Given the description of an element on the screen output the (x, y) to click on. 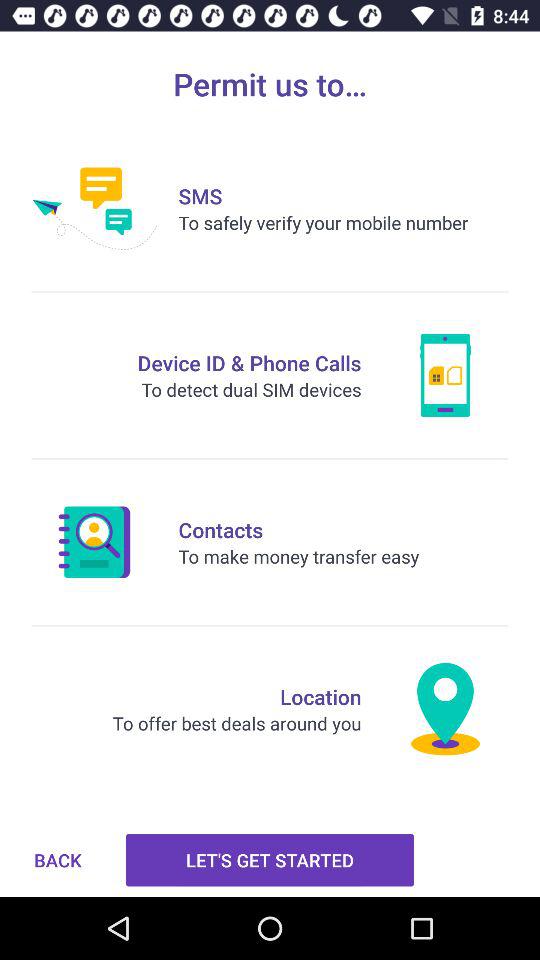
launch icon next to the back icon (269, 859)
